Given the description of an element on the screen output the (x, y) to click on. 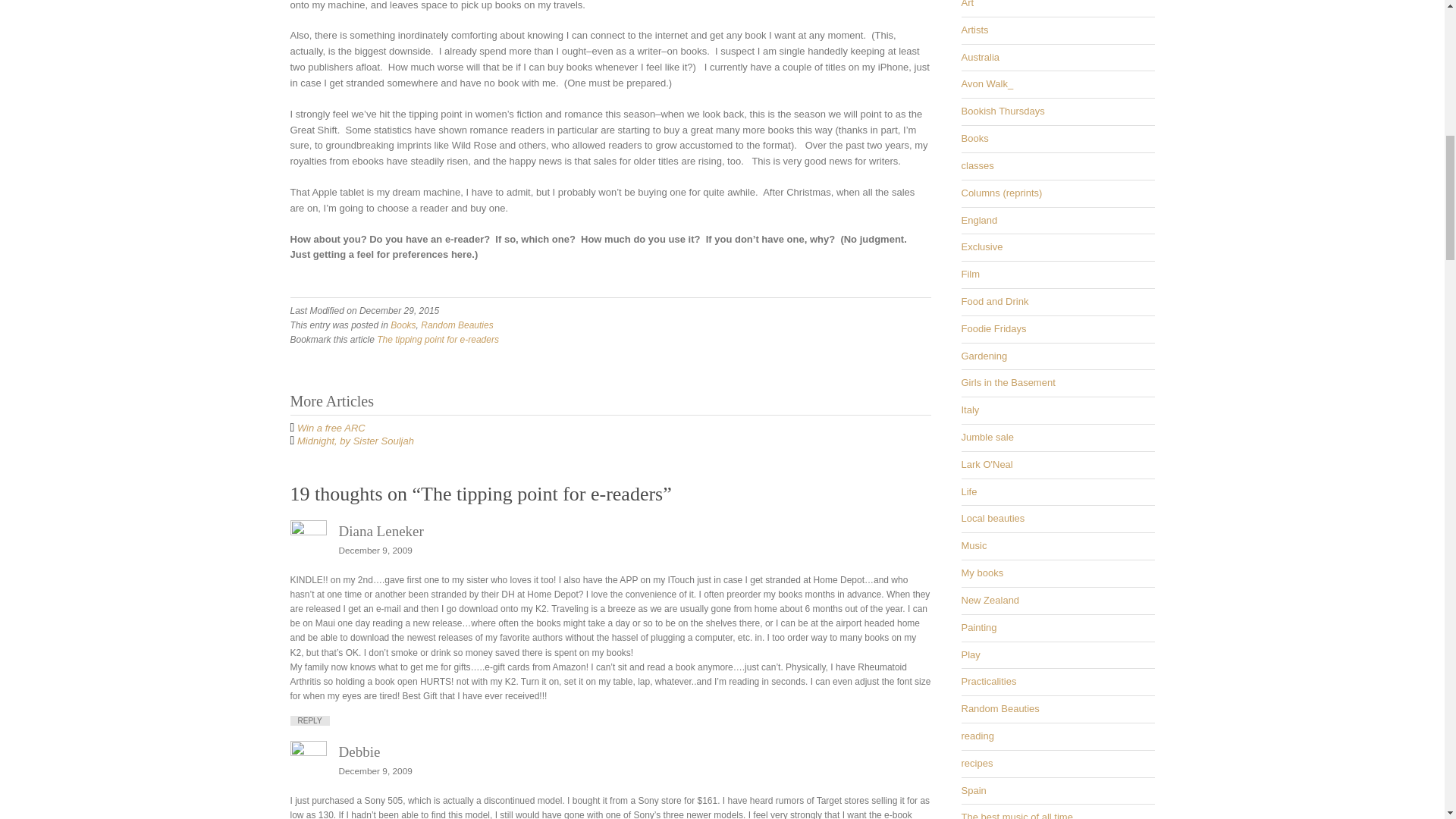
Random Beauties (456, 325)
Midnight, by Sister Souljah (355, 440)
Books (402, 325)
REPLY (309, 720)
The tipping point for e-readers (438, 339)
Win a free ARC (331, 428)
